Given the description of an element on the screen output the (x, y) to click on. 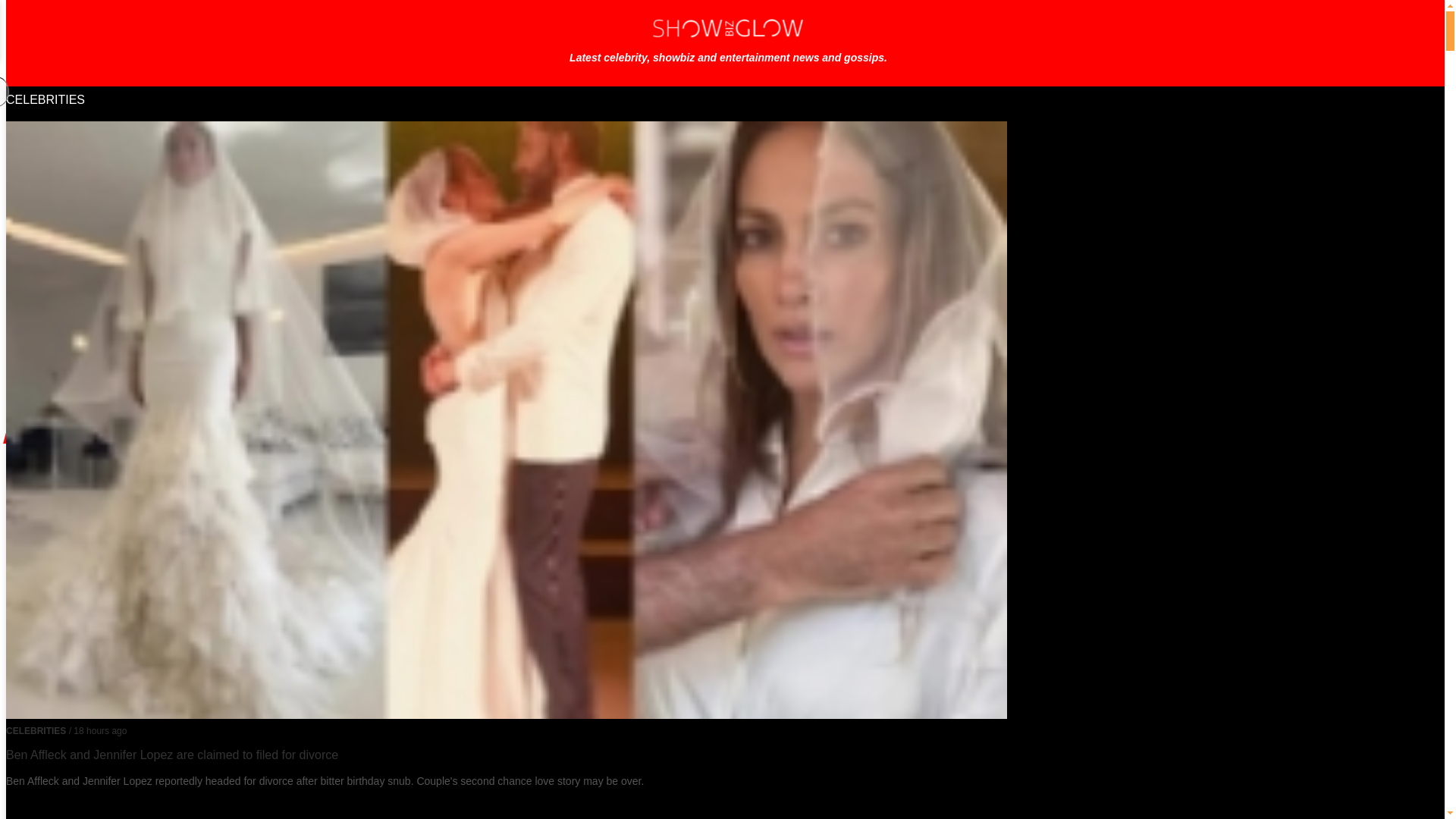
CELEBRITIES (44, 100)
CELEBRITIES (44, 100)
Showbizglow.com (727, 43)
